Given the description of an element on the screen output the (x, y) to click on. 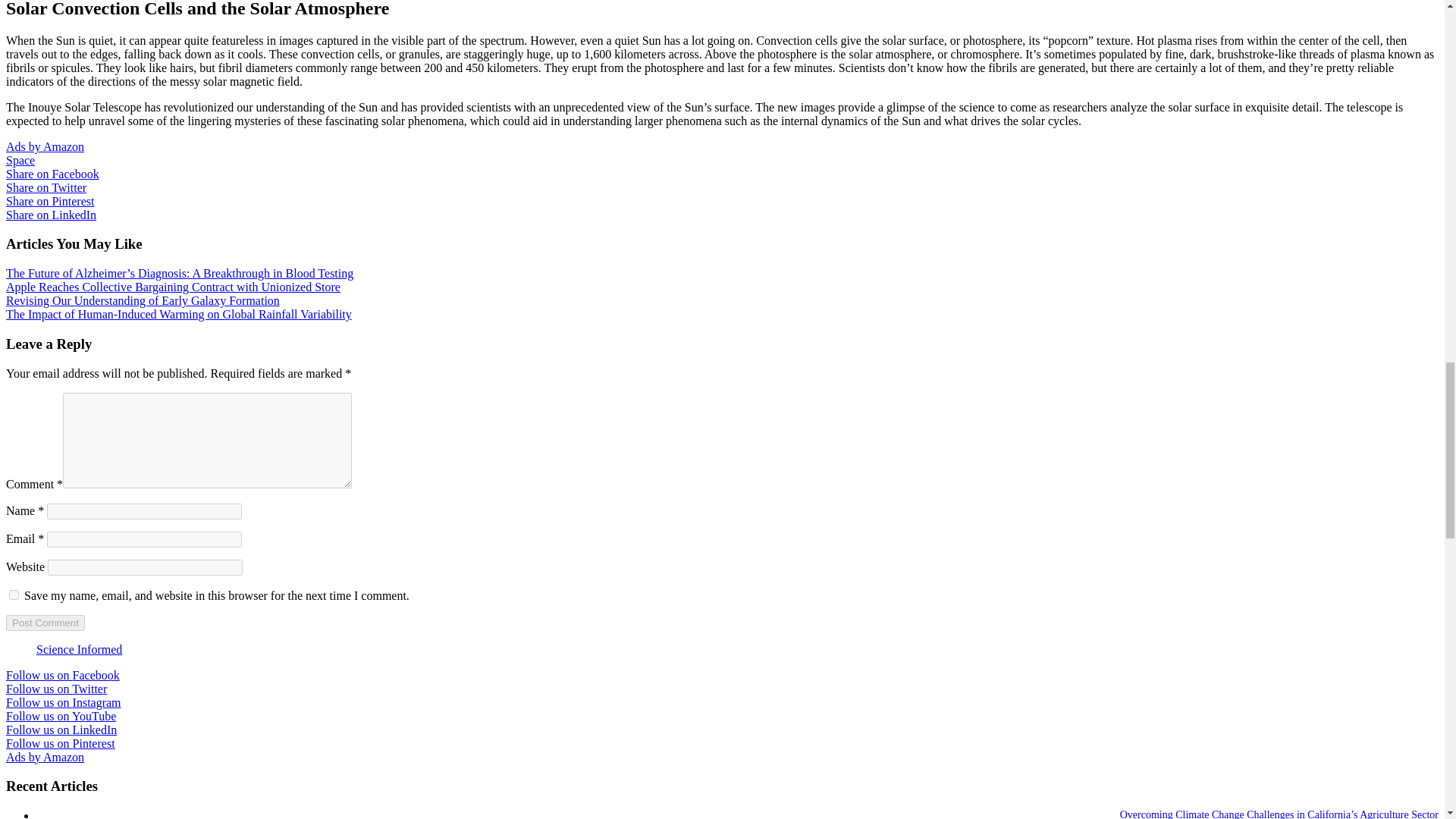
Post Comment (44, 622)
yes (13, 594)
Space (19, 160)
